Given the description of an element on the screen output the (x, y) to click on. 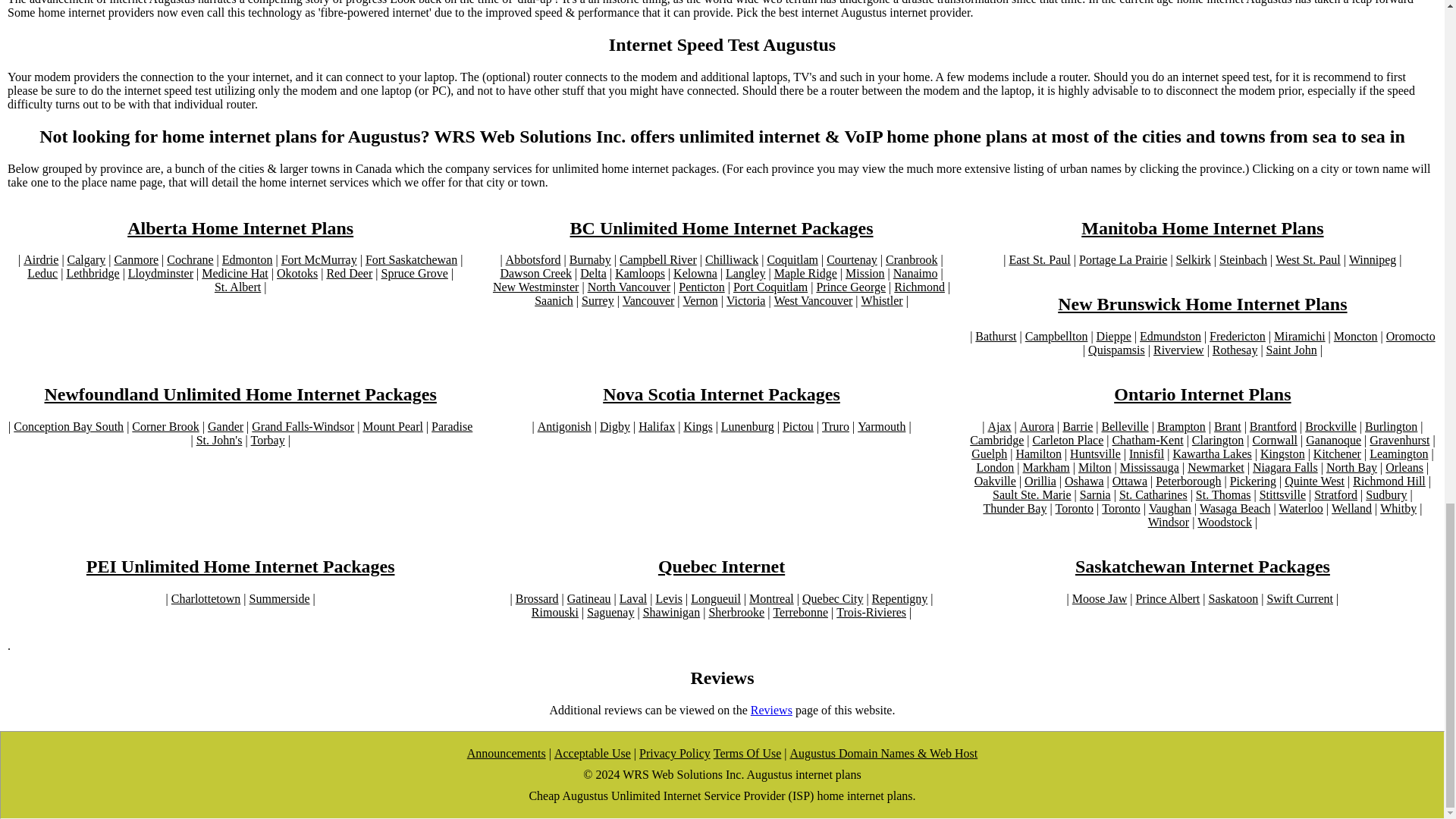
Alberta Home Internet Plans (240, 228)
Lethbridge (92, 273)
Campbell River (658, 259)
Airdrie (40, 259)
Lloydminster (160, 273)
St. Albert (237, 287)
Medicine Hat (234, 273)
Canmore (135, 259)
Fort McMurray (318, 259)
Calgary (86, 259)
